Given the description of an element on the screen output the (x, y) to click on. 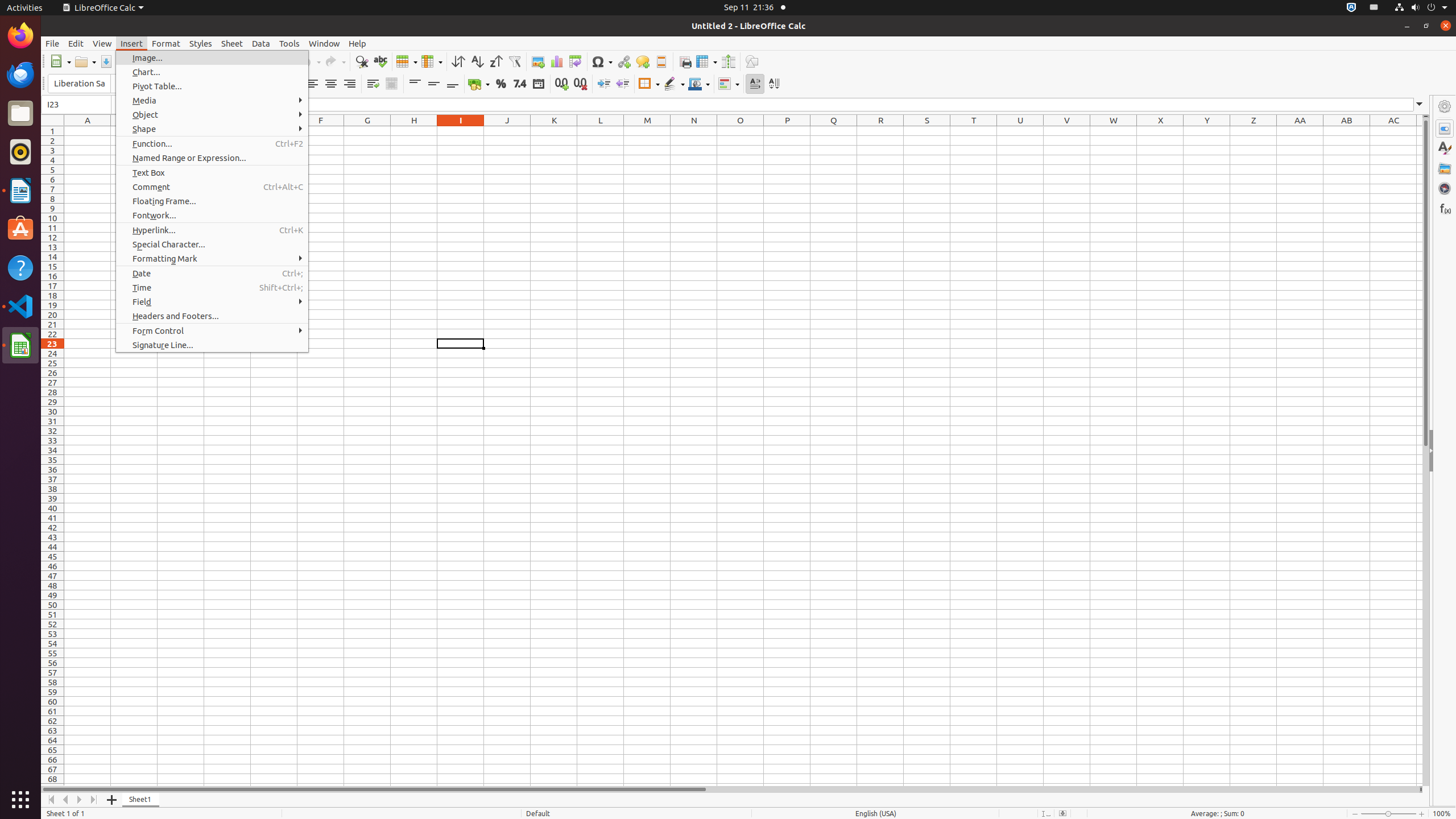
Format Element type: menu (165, 43)
J1 Element type: table-cell (507, 130)
Apply Style Element type: text (41, 73)
Border Color Element type: push-button (698, 83)
